Given the description of an element on the screen output the (x, y) to click on. 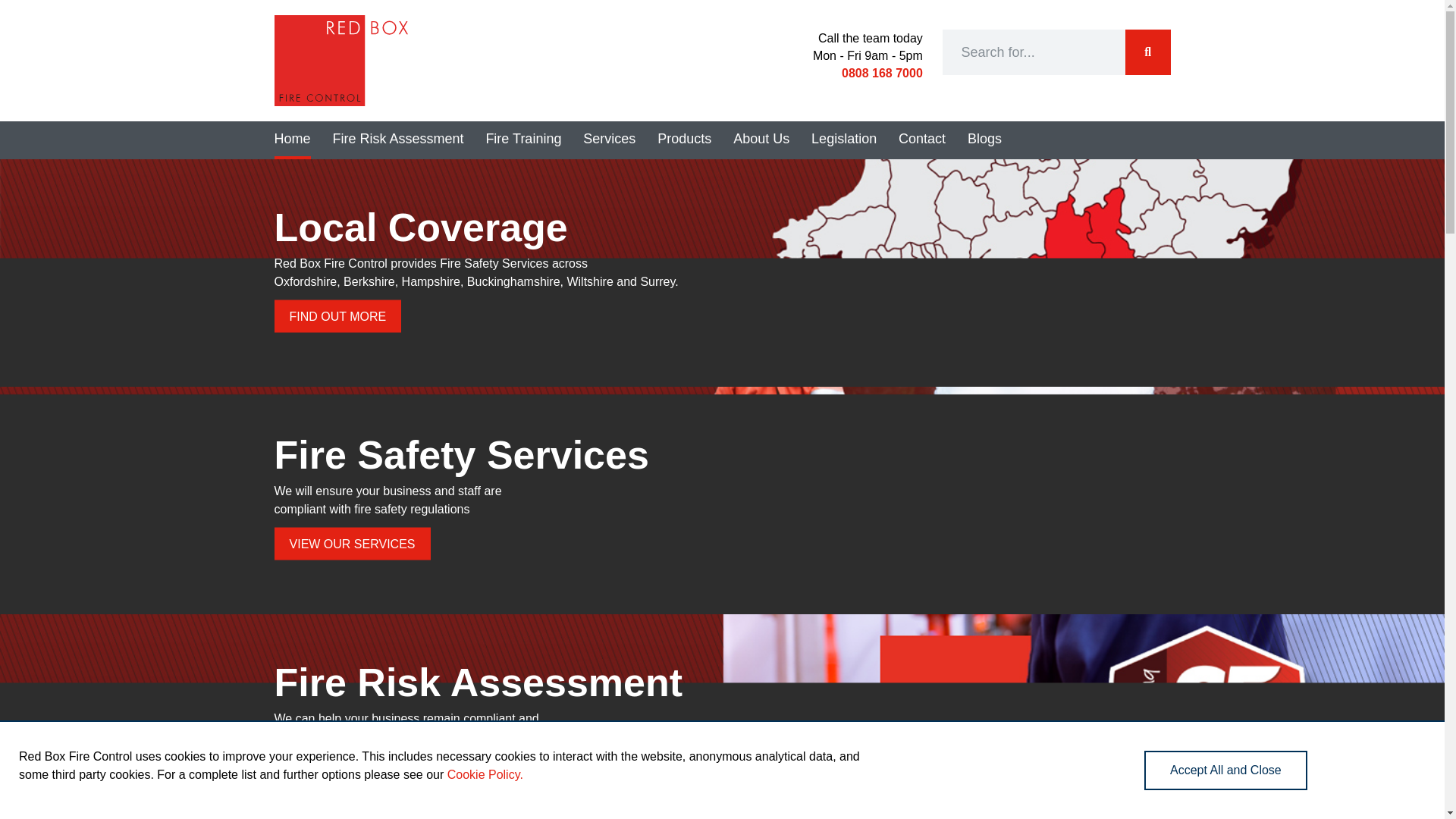
0808 168  (868, 72)
Fire Training (522, 139)
Go (1147, 52)
Go (1147, 52)
Go (1147, 52)
Legislation (843, 139)
Contact (921, 139)
Products (684, 139)
Blogs (984, 139)
Services (608, 139)
